Given the description of an element on the screen output the (x, y) to click on. 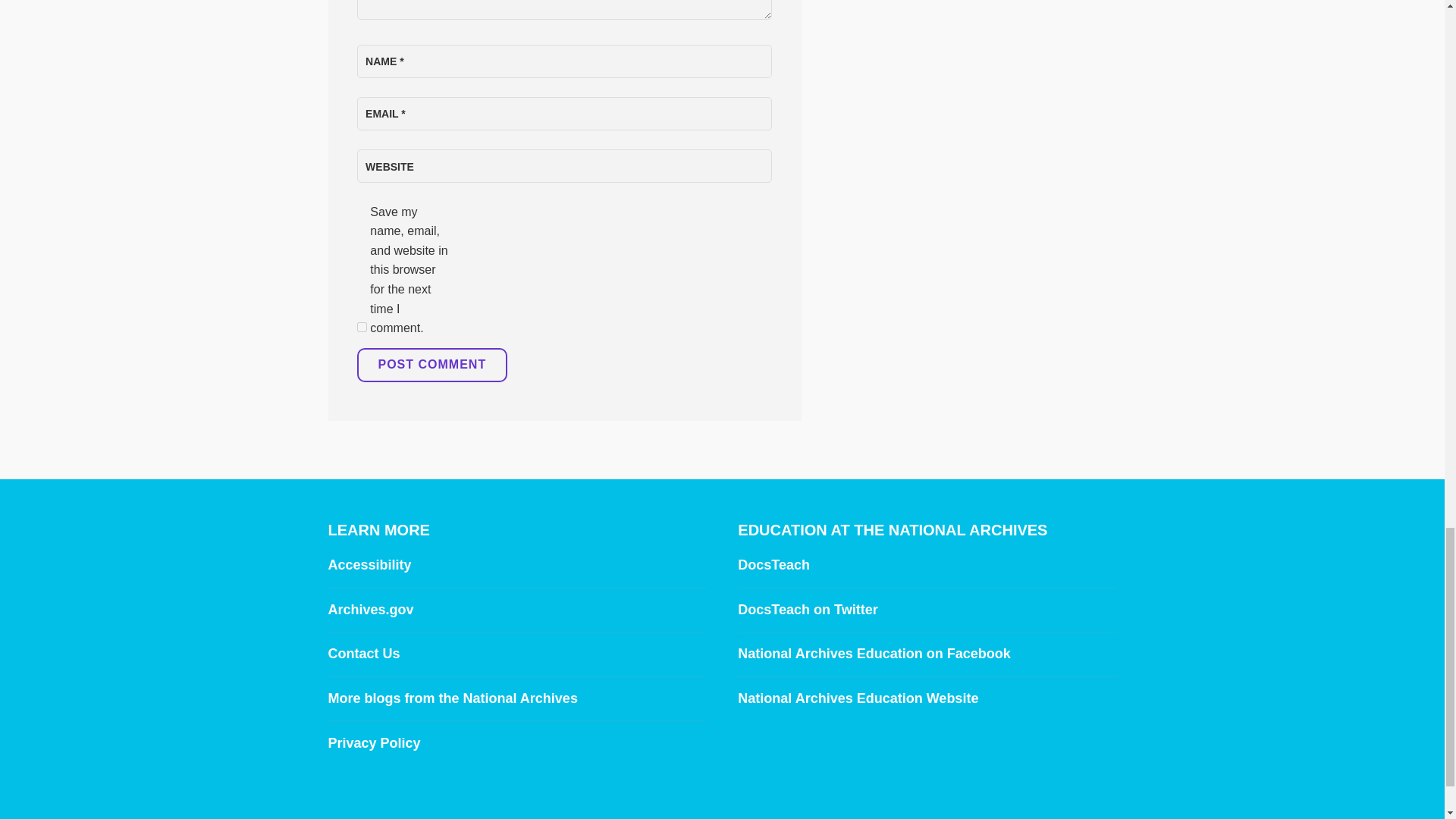
Post Comment (431, 365)
Contact information (362, 653)
U.S. National Archives Blogroll (451, 698)
Post Comment (431, 365)
yes (361, 327)
National Archives privacy policy (373, 743)
Accessibility information on archives.gov (368, 564)
